Given the description of an element on the screen output the (x, y) to click on. 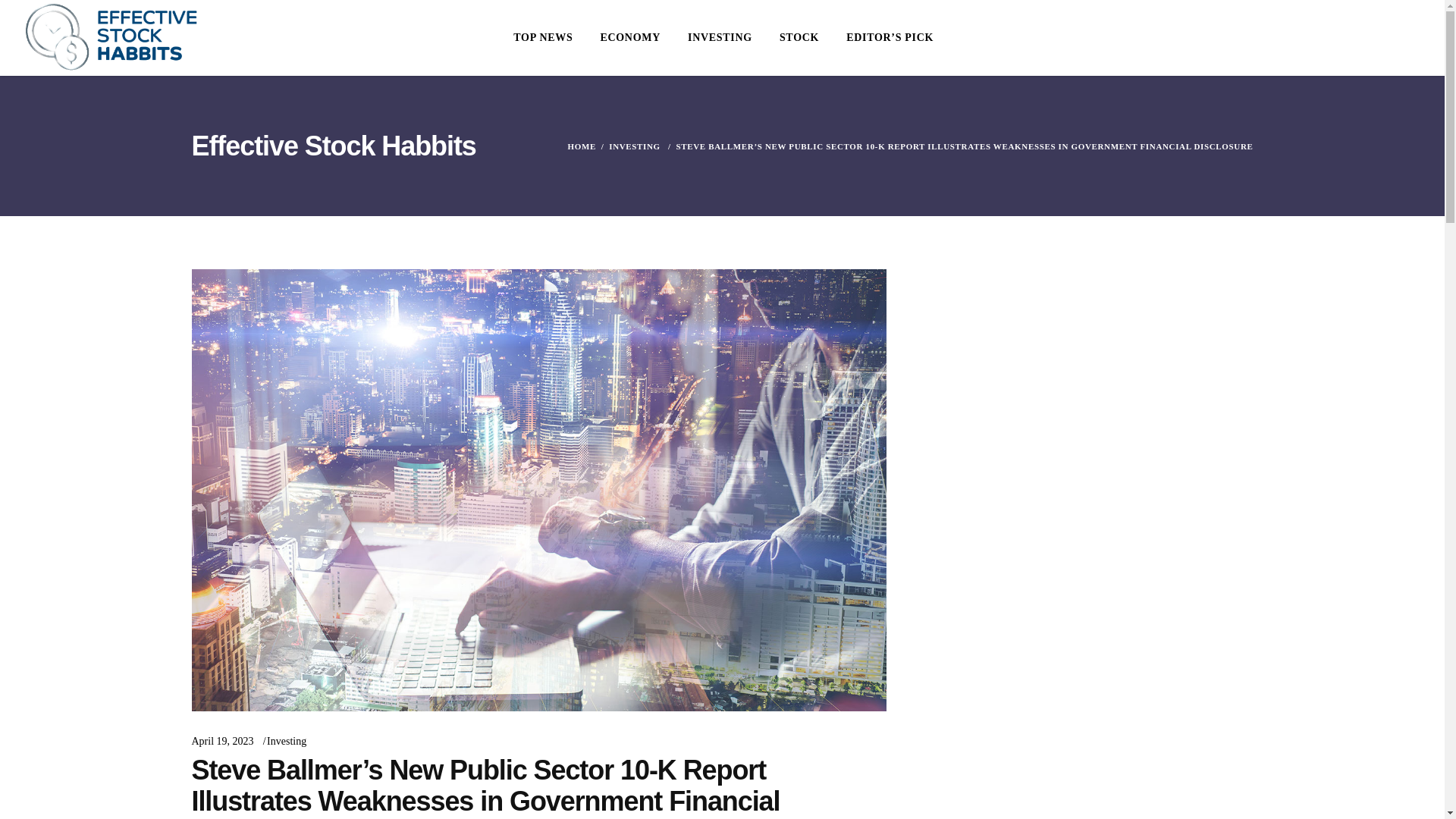
INVESTING (719, 38)
ECONOMY (630, 38)
Investing (285, 740)
HOME (581, 146)
April 19, 2023 (221, 740)
INVESTING (634, 146)
TOP NEWS (542, 38)
